Given the description of an element on the screen output the (x, y) to click on. 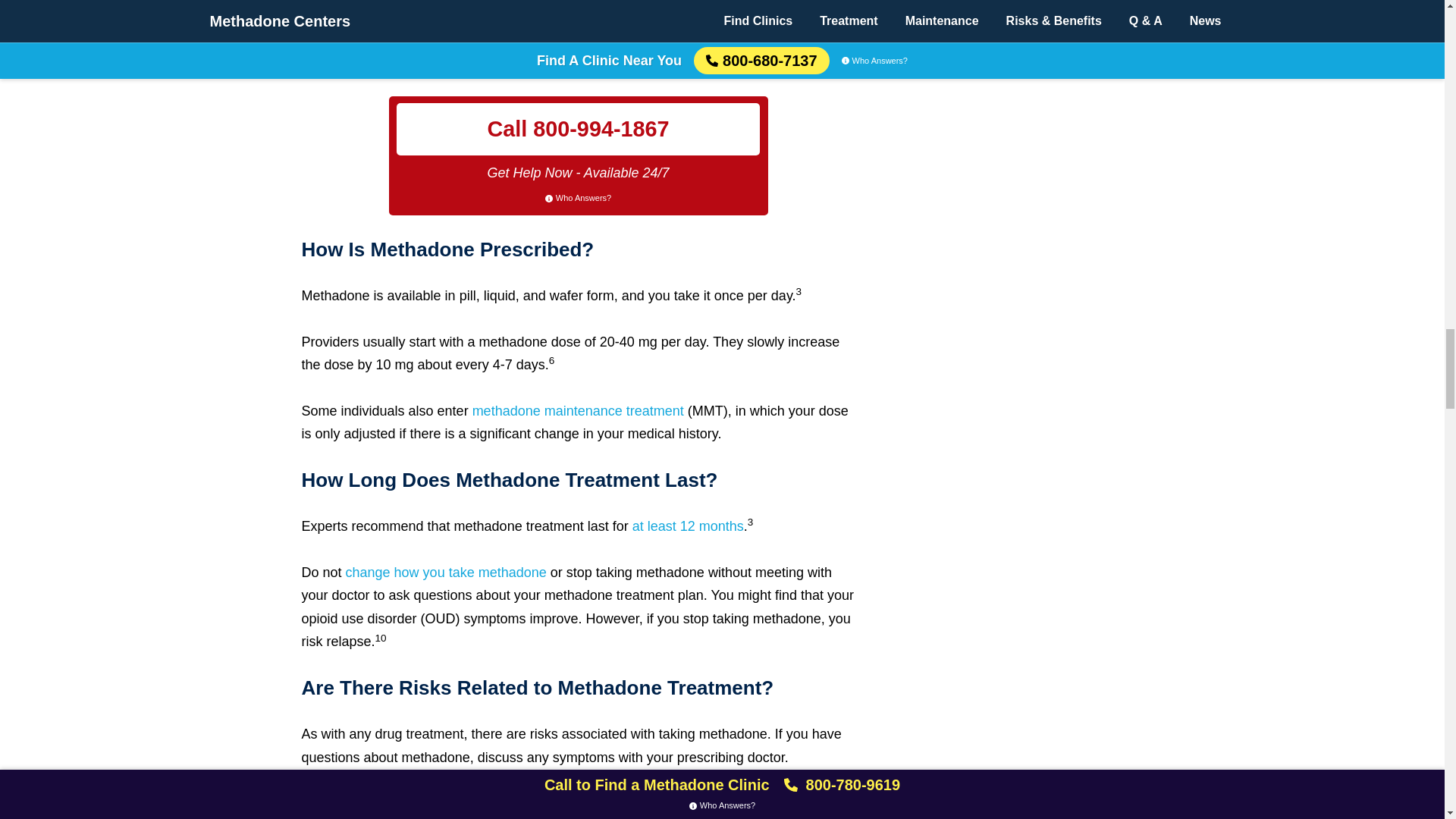
at least 12 months (687, 525)
change how you take methadone (444, 572)
methadone maintenance treatment (577, 410)
